Given the description of an element on the screen output the (x, y) to click on. 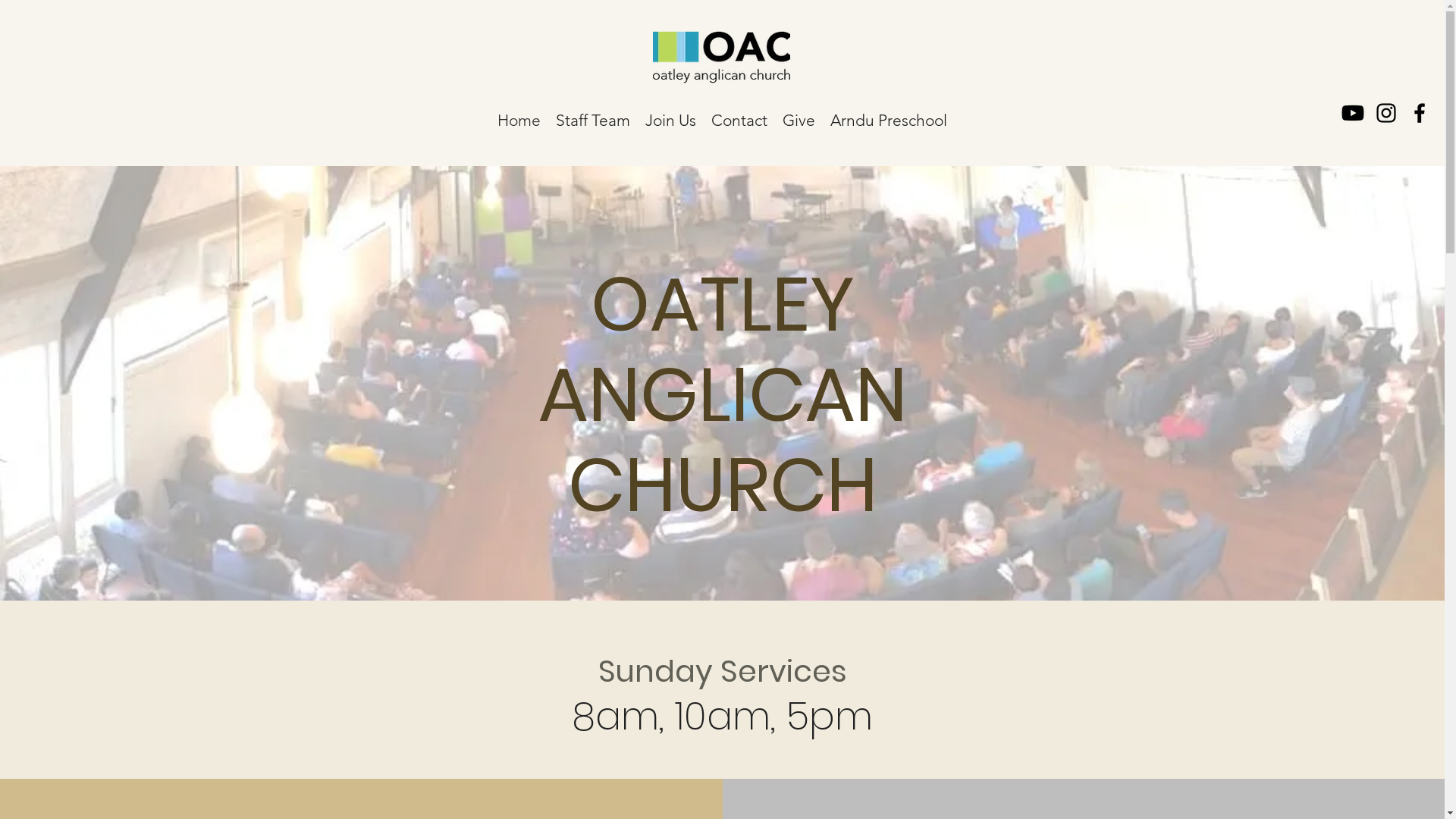
Contact Element type: text (739, 117)
Join Us Element type: text (670, 117)
Arndu Preschool Element type: text (888, 117)
Staff Team Element type: text (592, 117)
Home Element type: text (518, 117)
Give Element type: text (798, 117)
